Given the description of an element on the screen output the (x, y) to click on. 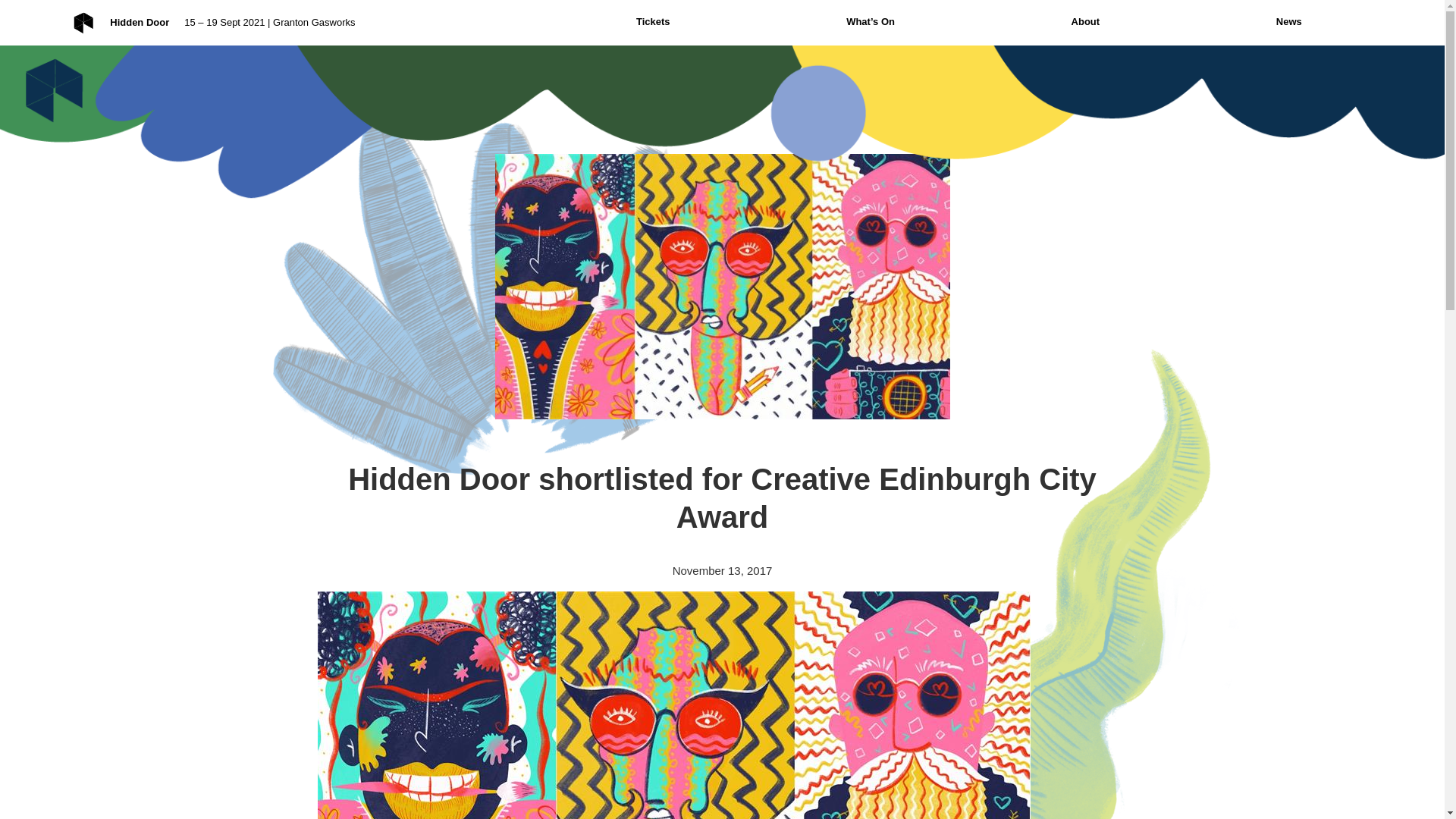
About (1085, 21)
News (1289, 21)
Tickets (652, 21)
Hidden Door (139, 22)
